Given the description of an element on the screen output the (x, y) to click on. 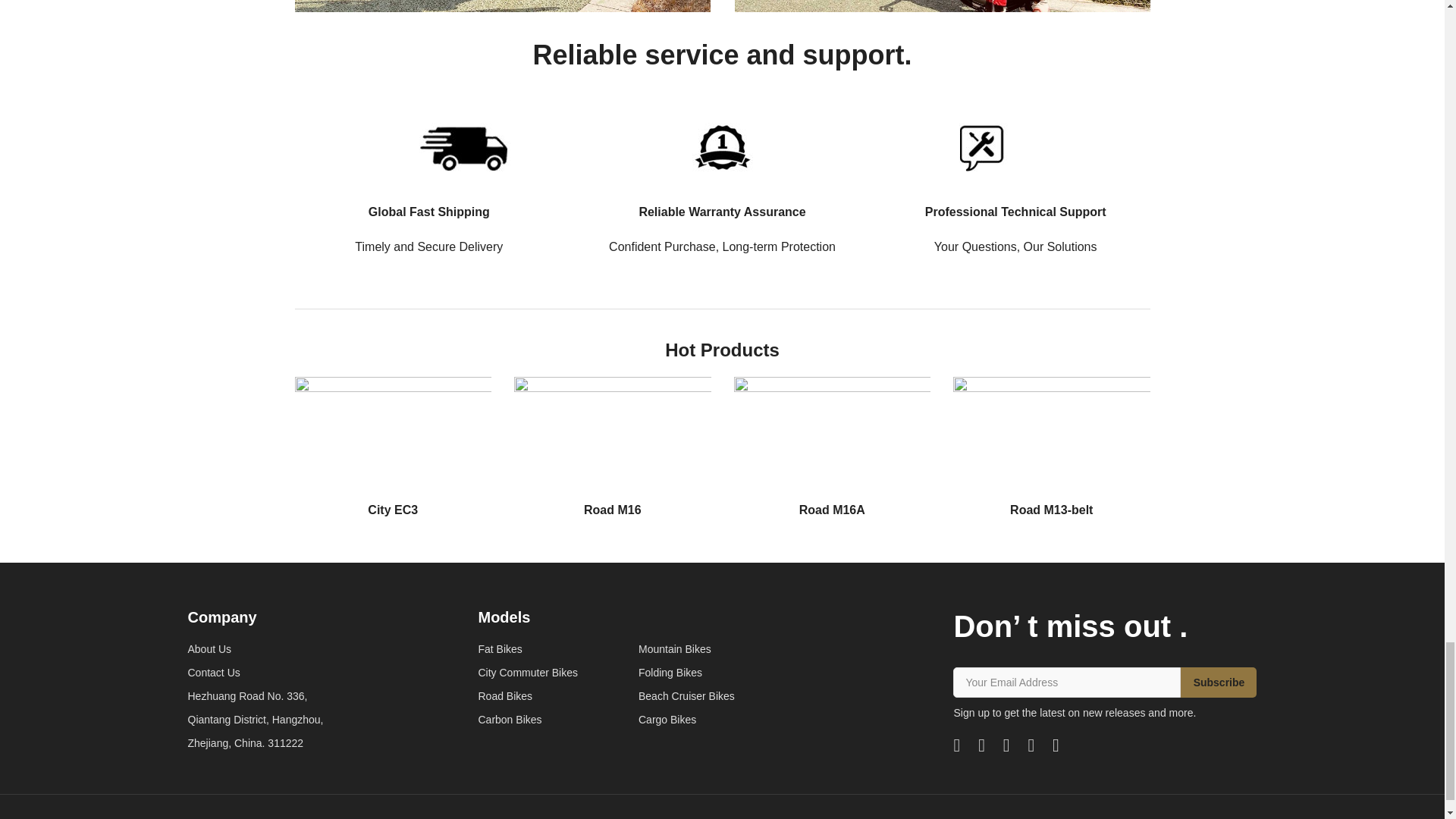
Road M13-belt (1051, 446)
City EC3 (393, 446)
Road M16A (832, 446)
Road M13-belt (1051, 446)
City EC3 (393, 446)
Road M16A (832, 446)
Road M16 (612, 446)
About Us (255, 649)
Road M16 (612, 446)
